Given the description of an element on the screen output the (x, y) to click on. 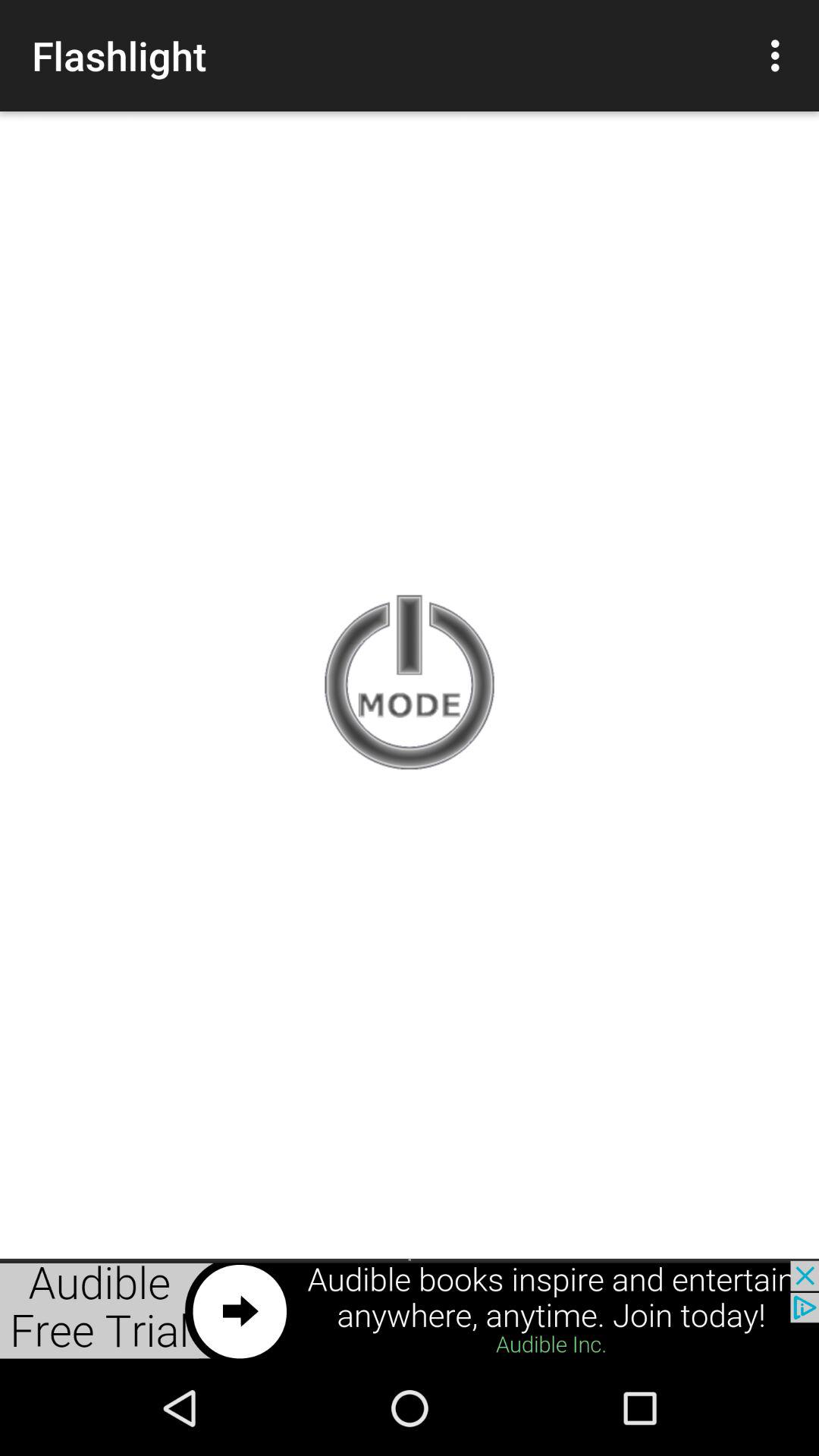
switch off the user (409, 684)
